Given the description of an element on the screen output the (x, y) to click on. 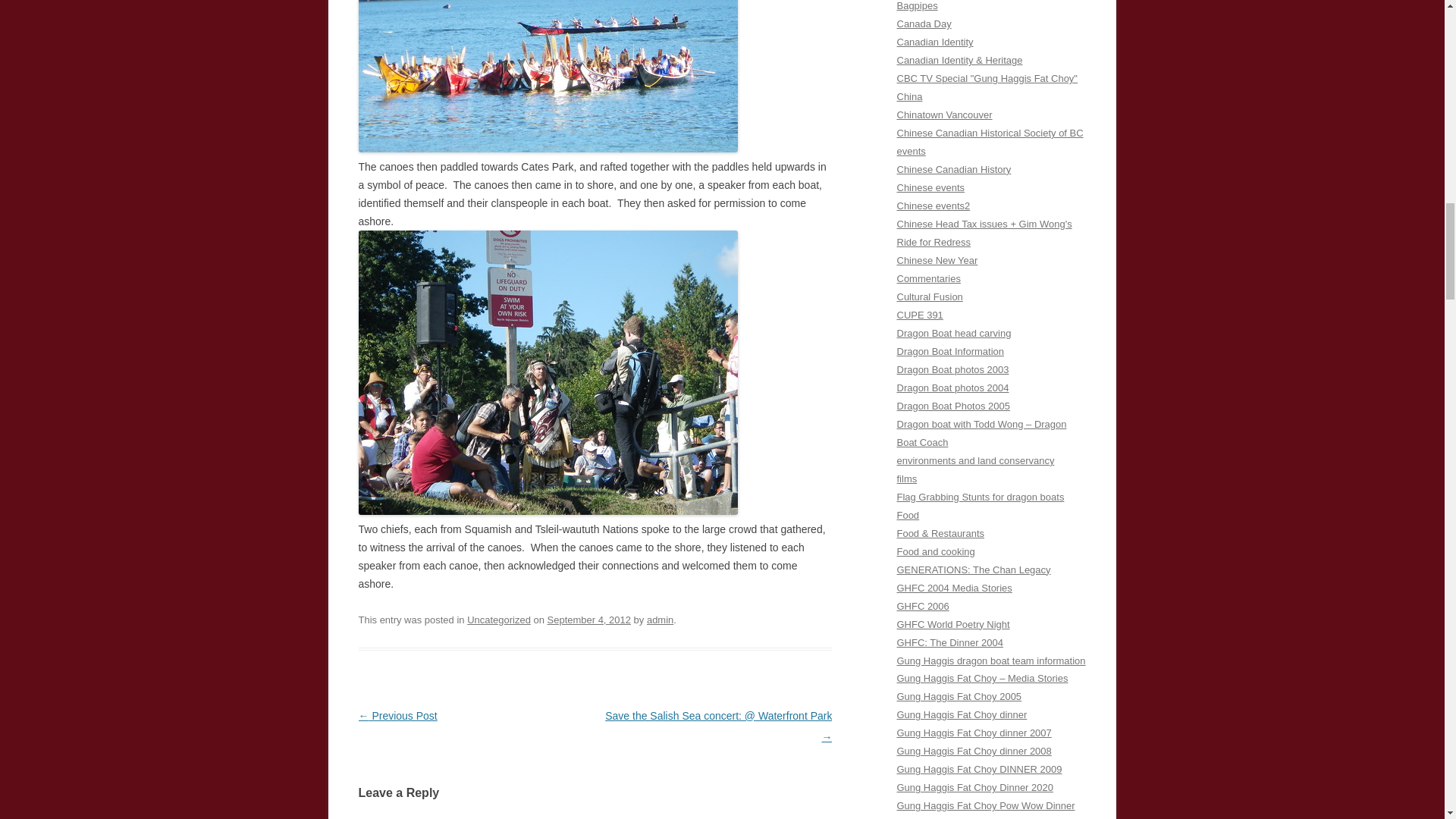
10:25 AM (588, 619)
September 4, 2012 (588, 619)
admin (659, 619)
Uncategorized (499, 619)
View all posts by admin (659, 619)
